Given the description of an element on the screen output the (x, y) to click on. 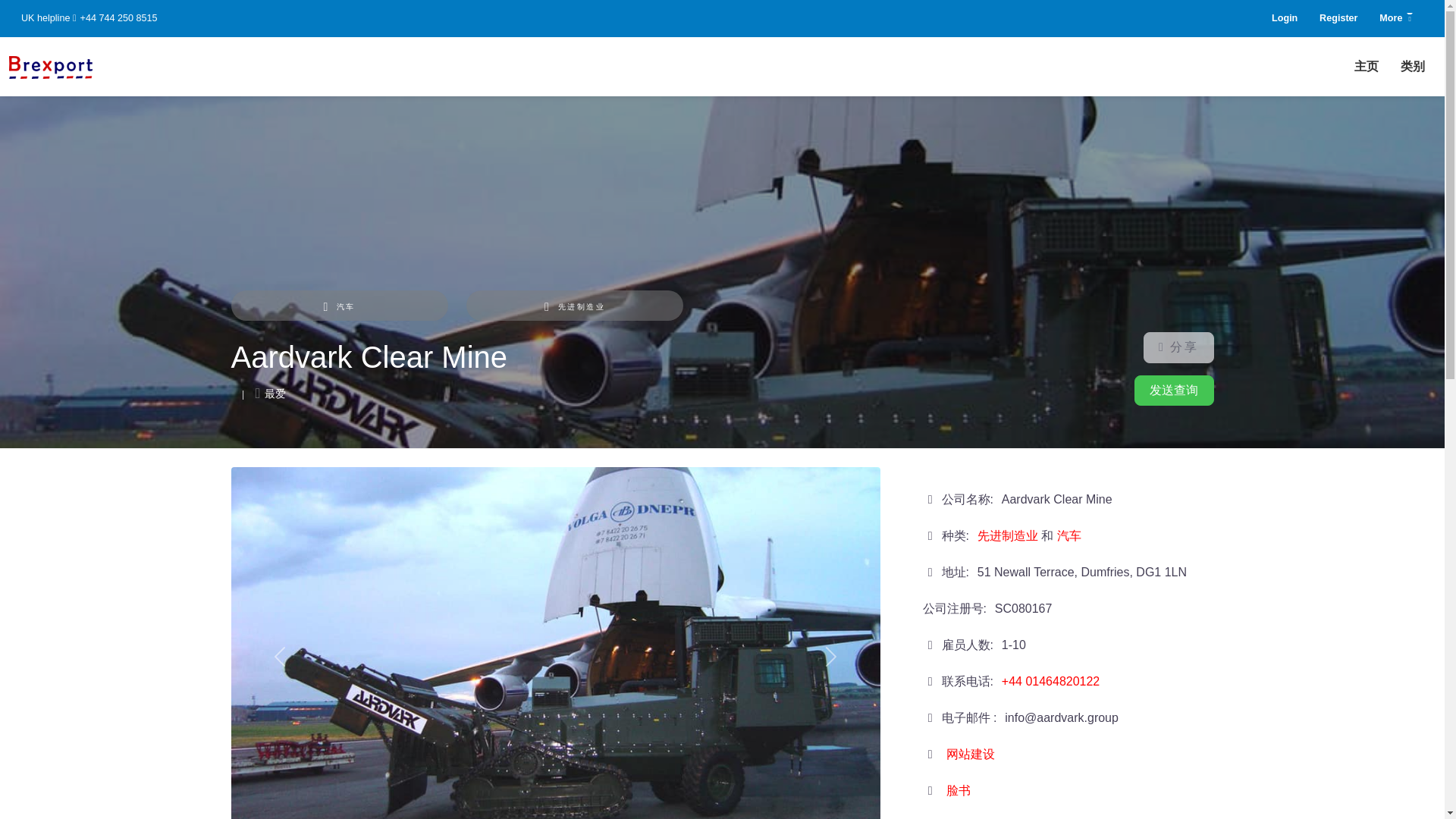
Login (1284, 18)
More (1395, 18)
Register (1338, 18)
More (1395, 18)
Register (1338, 18)
Login (1284, 18)
